Given the description of an element on the screen output the (x, y) to click on. 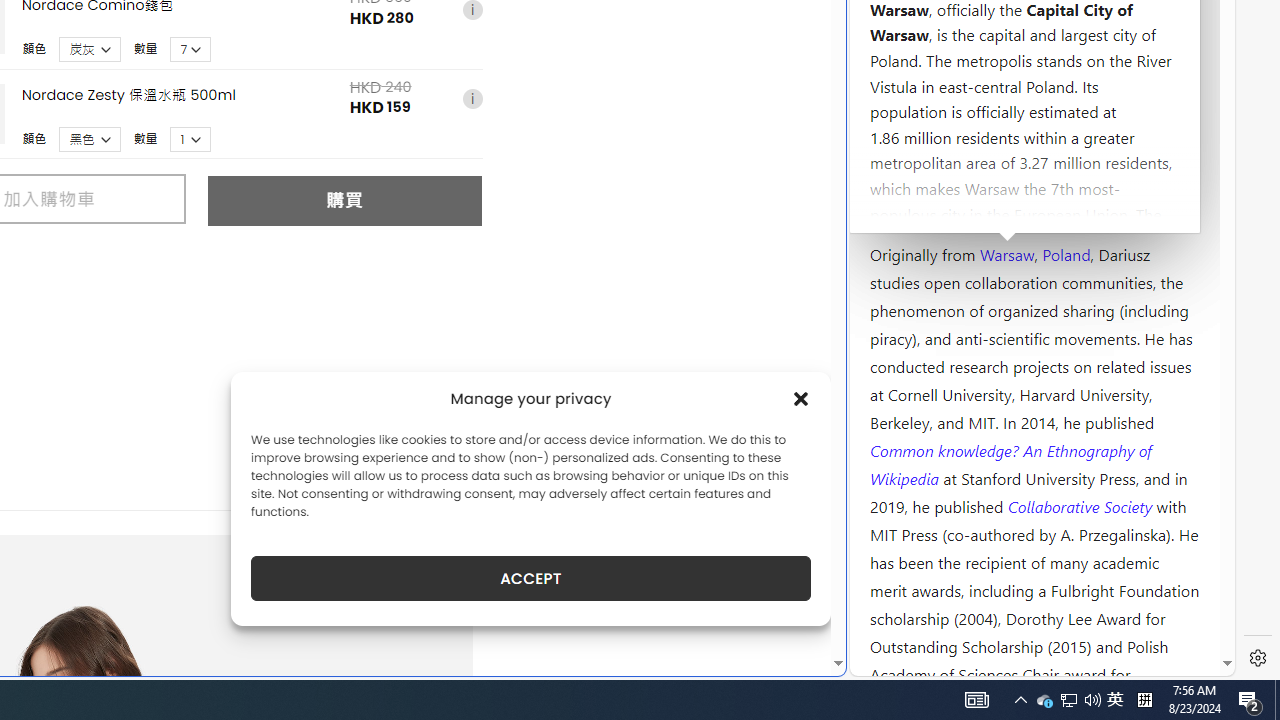
Warsaw (1006, 253)
ACCEPT (530, 578)
Class: cmplz-close (801, 398)
Poland (1065, 253)
Kozminski University (1034, 136)
Collaborative Society  (1082, 505)
